Given the description of an element on the screen output the (x, y) to click on. 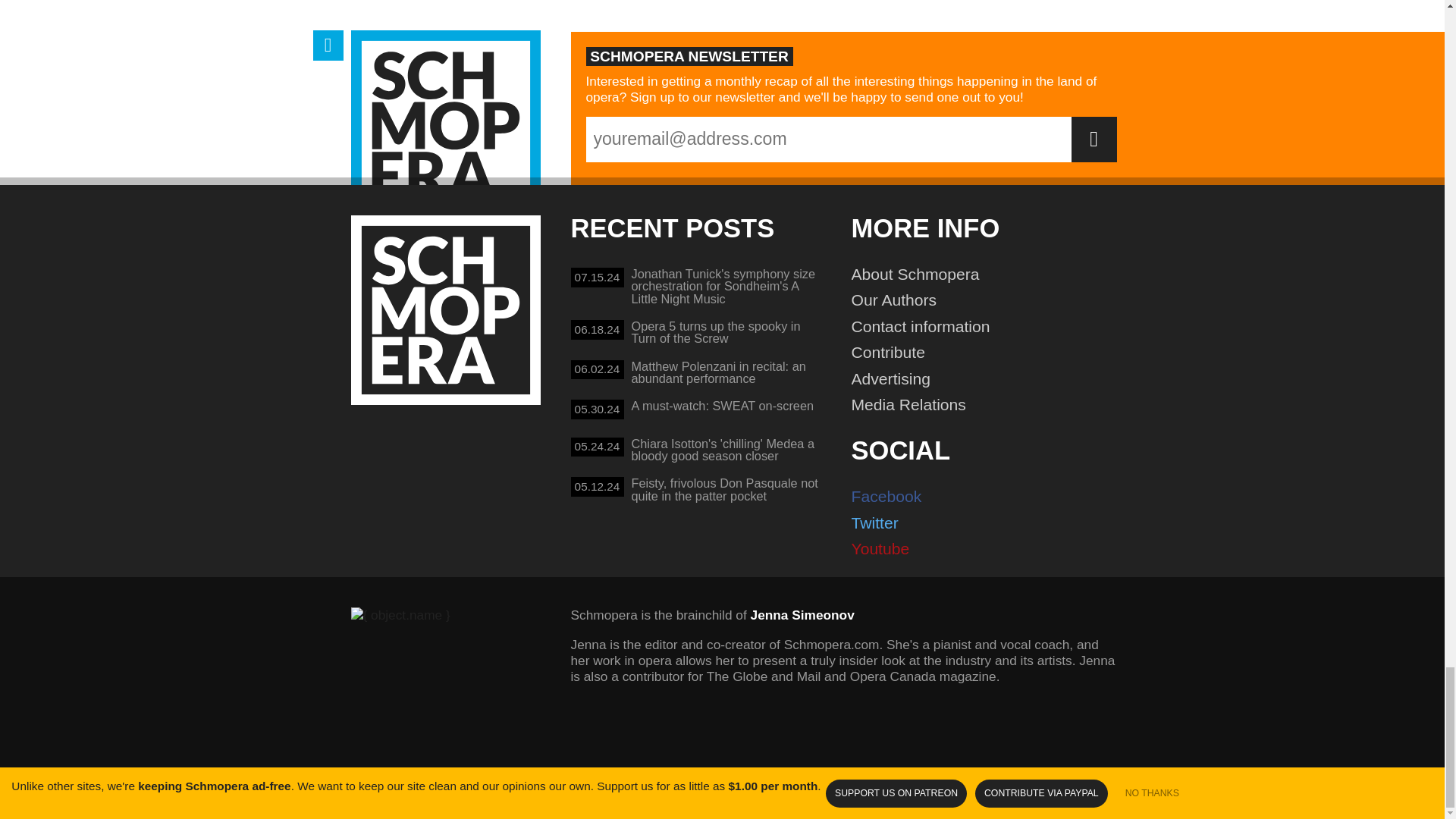
About Schmopera (990, 274)
Media Relations (990, 405)
Back to home page (445, 309)
Contribute (990, 352)
Advertising (696, 412)
Contact information (990, 378)
Our Authors (696, 334)
